Given the description of an element on the screen output the (x, y) to click on. 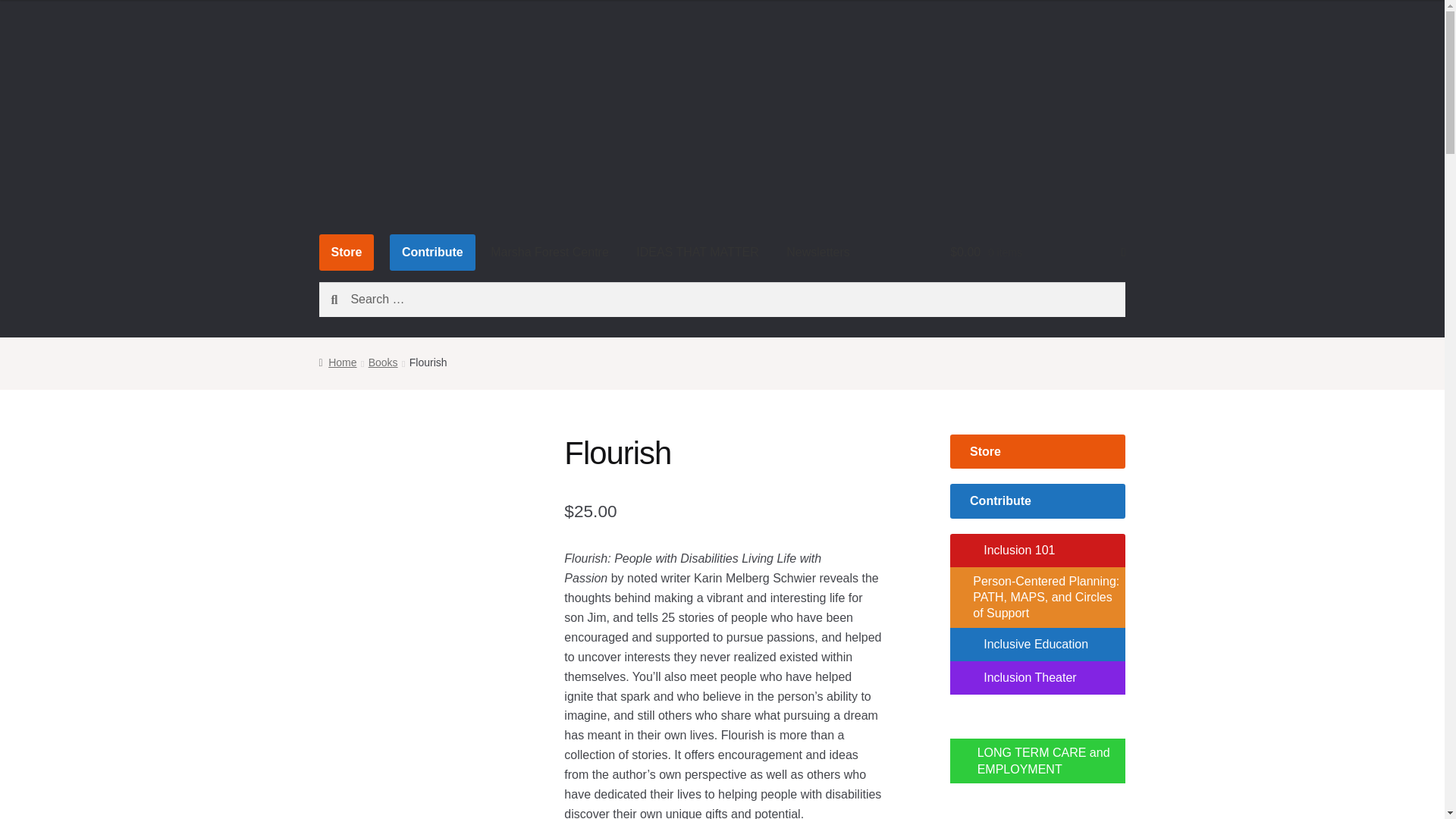
Books (382, 362)
Marsha Forest Centre (550, 252)
Home (337, 362)
Inclusion Theater (1037, 677)
View your shopping cart (1037, 252)
Newsletters (817, 252)
